Given the description of an element on the screen output the (x, y) to click on. 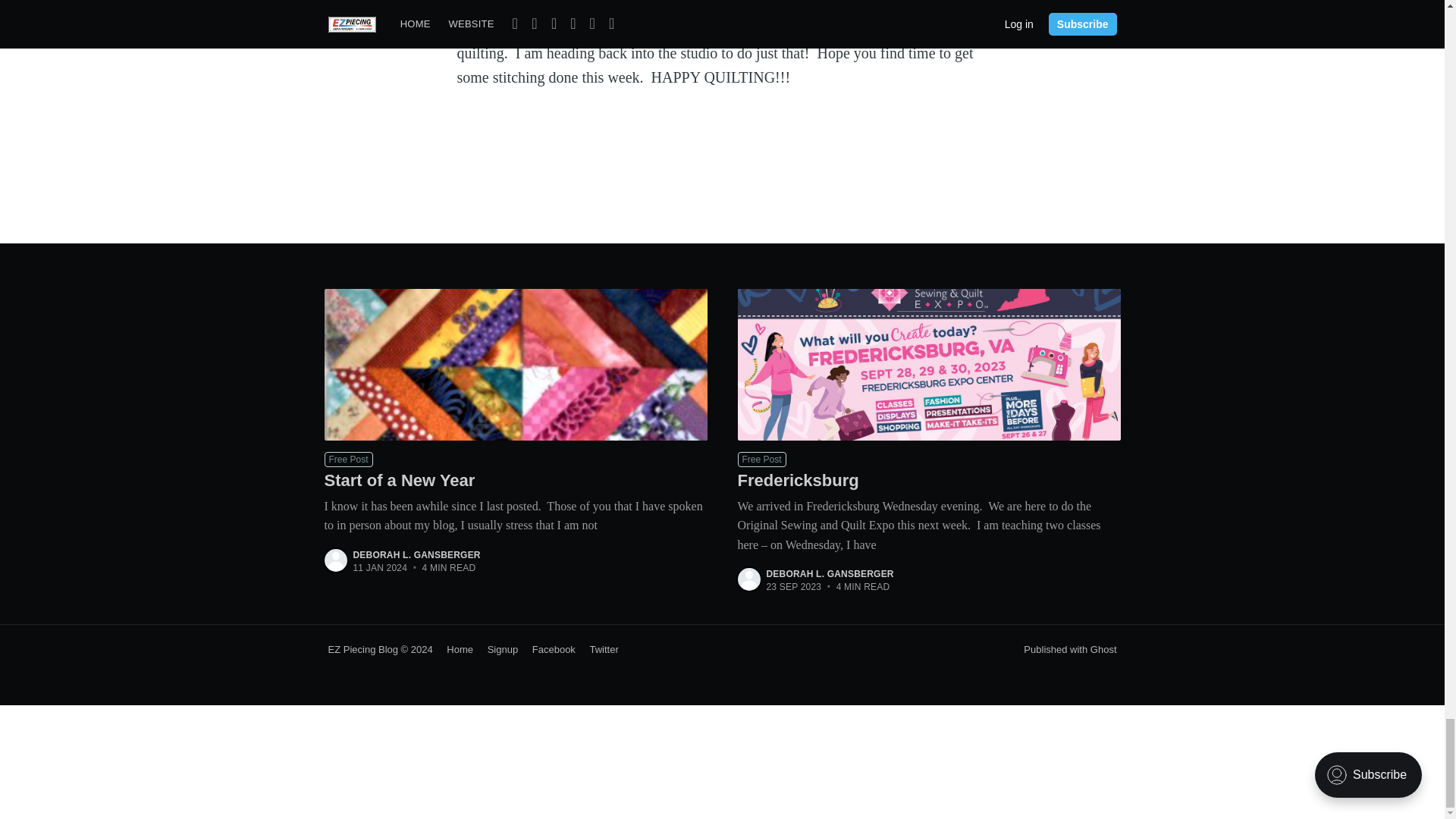
Twitter (597, 649)
Ghost (1103, 649)
Signup (497, 649)
Home (454, 649)
EZ Piecing Blog (362, 649)
Facebook (548, 649)
DEBORAH L. GANSBERGER (829, 573)
DEBORAH L. GANSBERGER (416, 554)
